Given the description of an element on the screen output the (x, y) to click on. 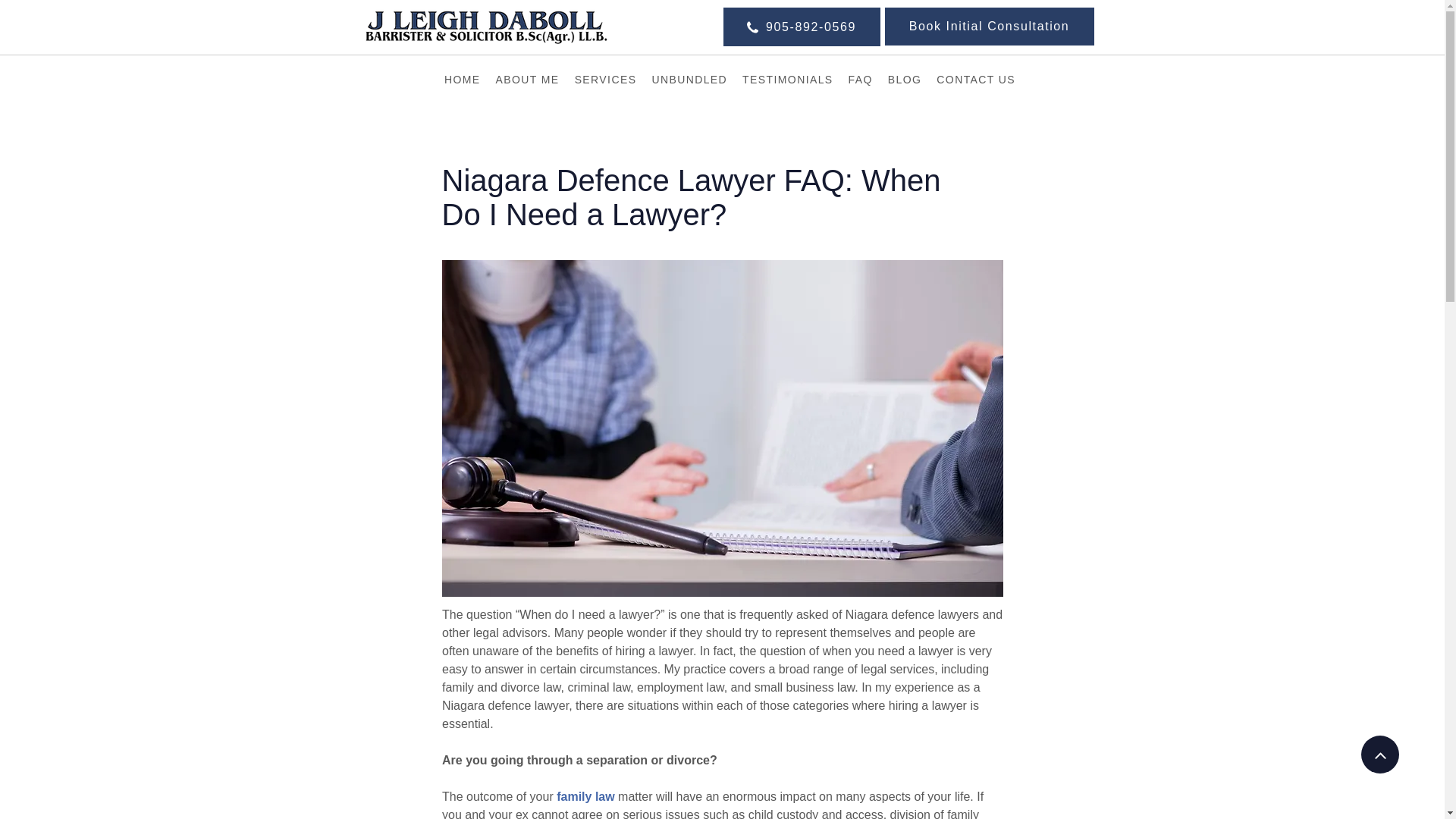
905-892-0569 (801, 26)
SERVICES (606, 80)
FAQ (860, 80)
CONTACT US (975, 80)
BLOG (904, 80)
ABOUT ME (527, 80)
TESTIMONIALS (787, 80)
UNBUNDLED (688, 80)
family law (585, 796)
Book Initial Consultation (988, 26)
